Given the description of an element on the screen output the (x, y) to click on. 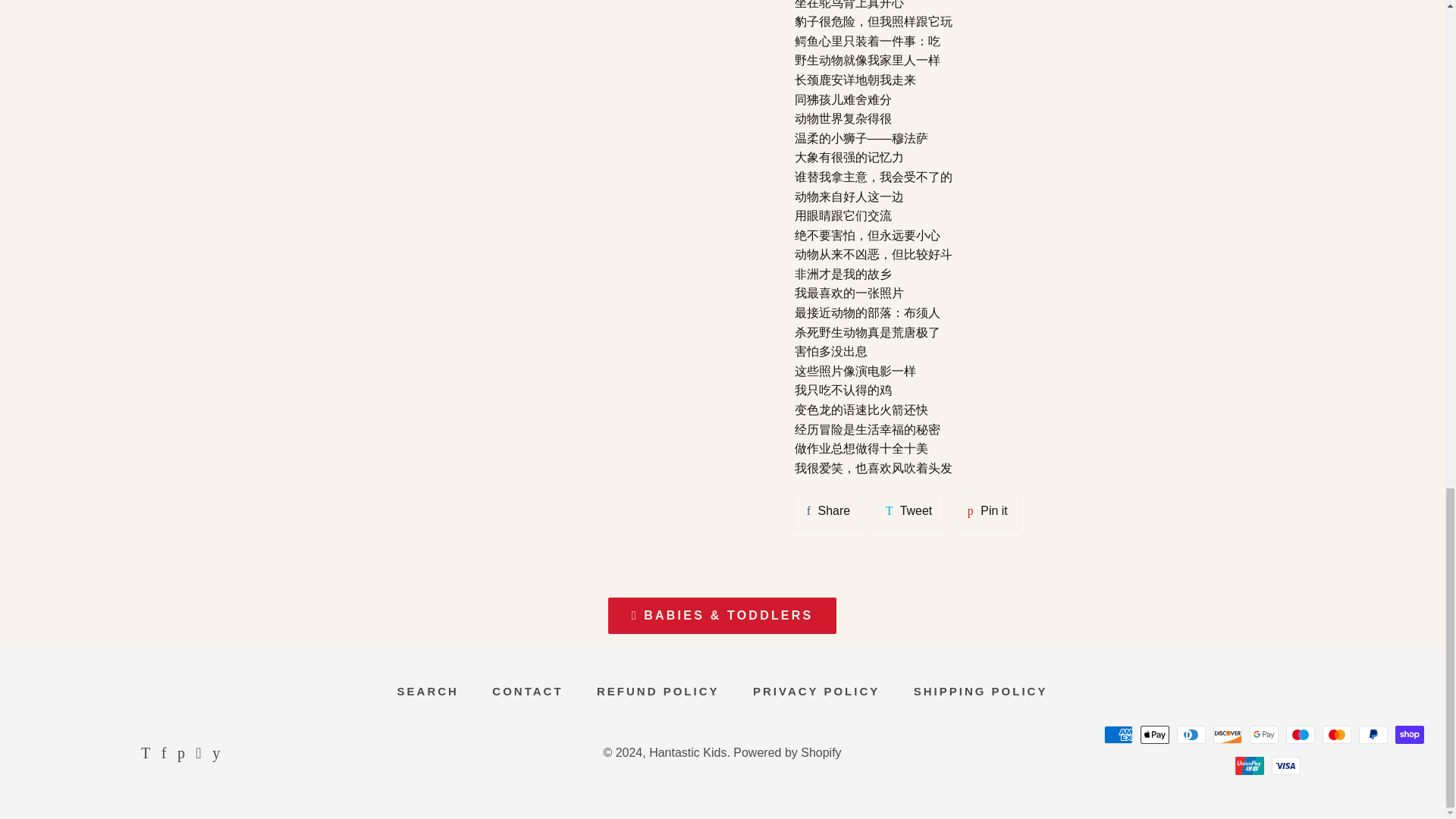
Google Pay (1263, 734)
Union Pay (1248, 765)
Tweet on Twitter (908, 511)
Apple Pay (1154, 734)
Share on Facebook (827, 511)
Pin on Pinterest (987, 511)
Mastercard (1336, 734)
American Express (1117, 734)
Visa (1285, 765)
Discover (1226, 734)
PayPal (1372, 734)
Maestro (1299, 734)
Diners Club (1190, 734)
Shop Pay (1408, 734)
